Given the description of an element on the screen output the (x, y) to click on. 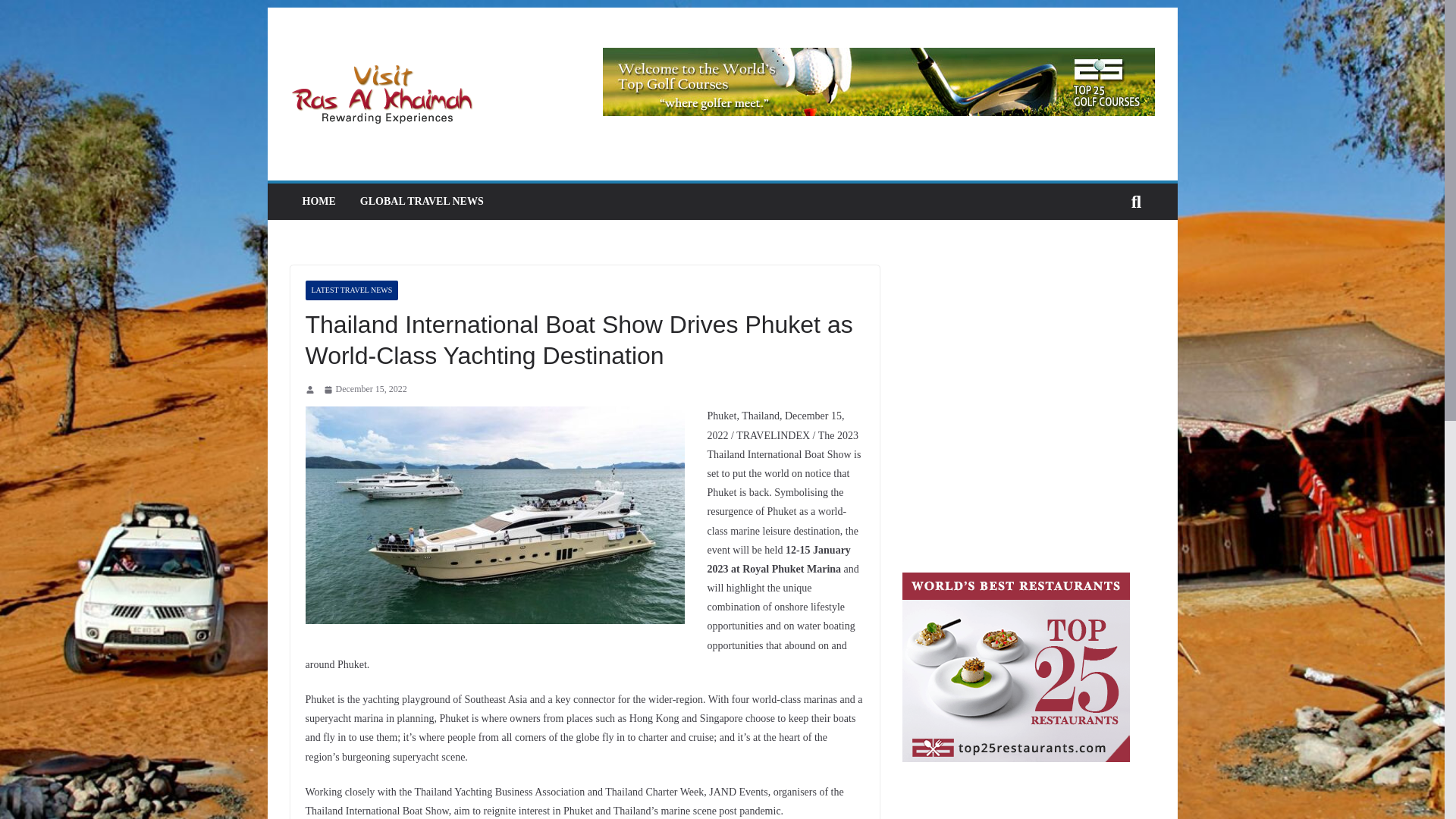
HOME (317, 201)
December 15, 2022 (364, 389)
10:00 am (364, 389)
LATEST TRAVEL NEWS (350, 290)
GLOBAL TRAVEL NEWS (421, 201)
